Given the description of an element on the screen output the (x, y) to click on. 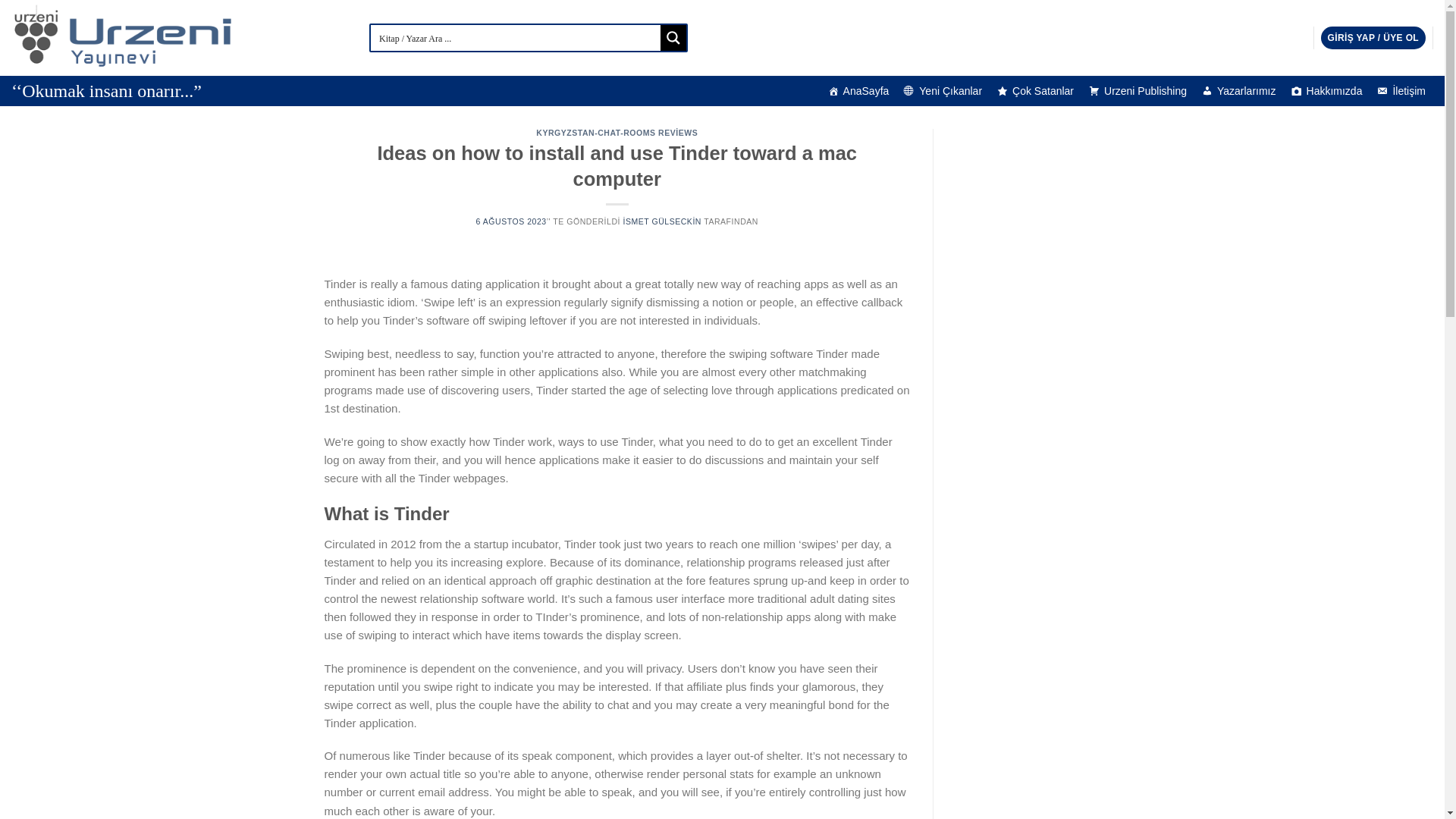
AnaSayfa (858, 91)
KYRGYZSTAN-CHAT-ROOMS REVIEWS (616, 132)
Urzeni Publishing (1137, 91)
